Given the description of an element on the screen output the (x, y) to click on. 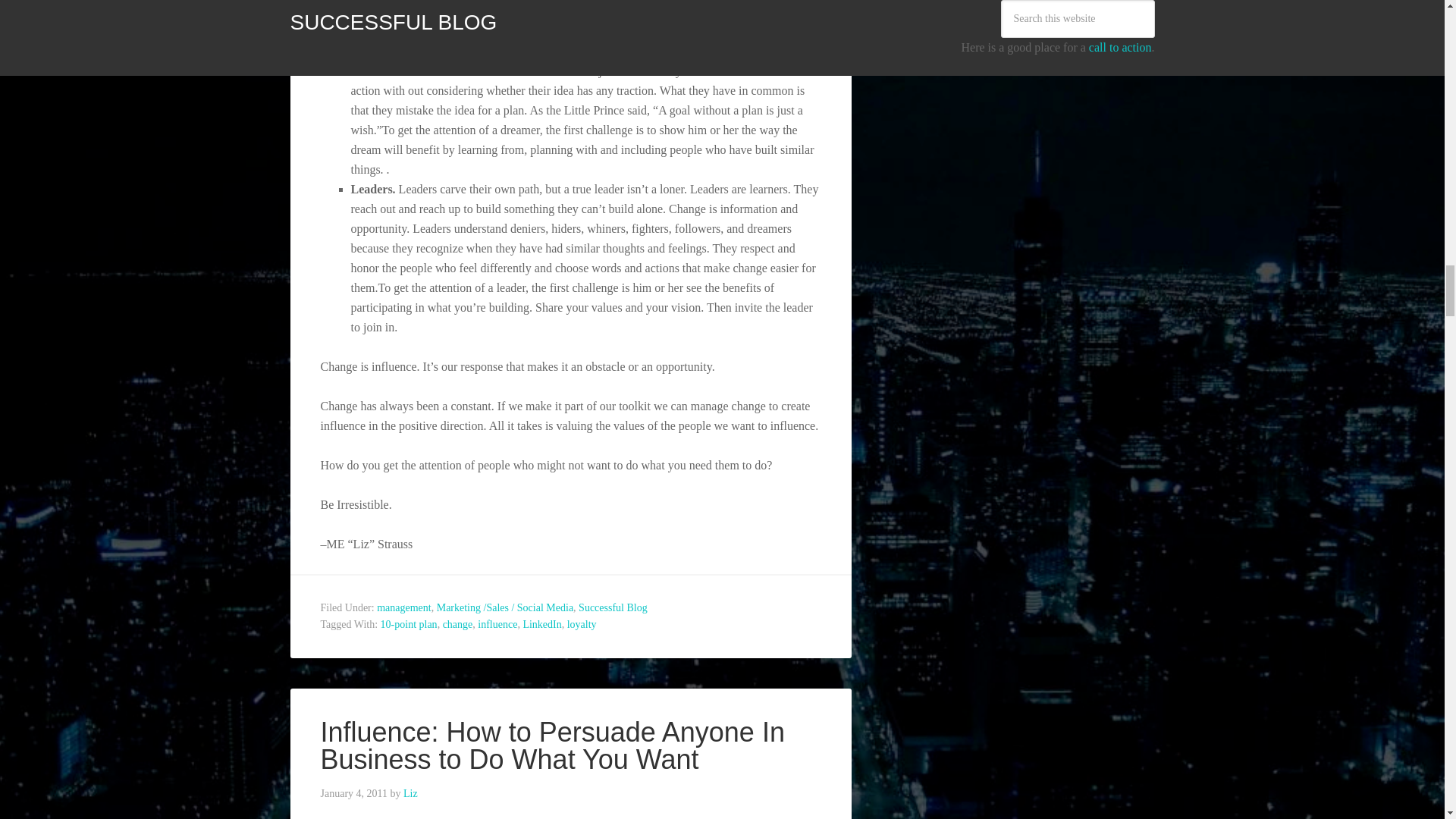
influence (496, 624)
LinkedIn (541, 624)
Successful Blog (612, 607)
change (457, 624)
10-point plan (409, 624)
loyalty (581, 624)
Liz (410, 793)
management (403, 607)
